Given the description of an element on the screen output the (x, y) to click on. 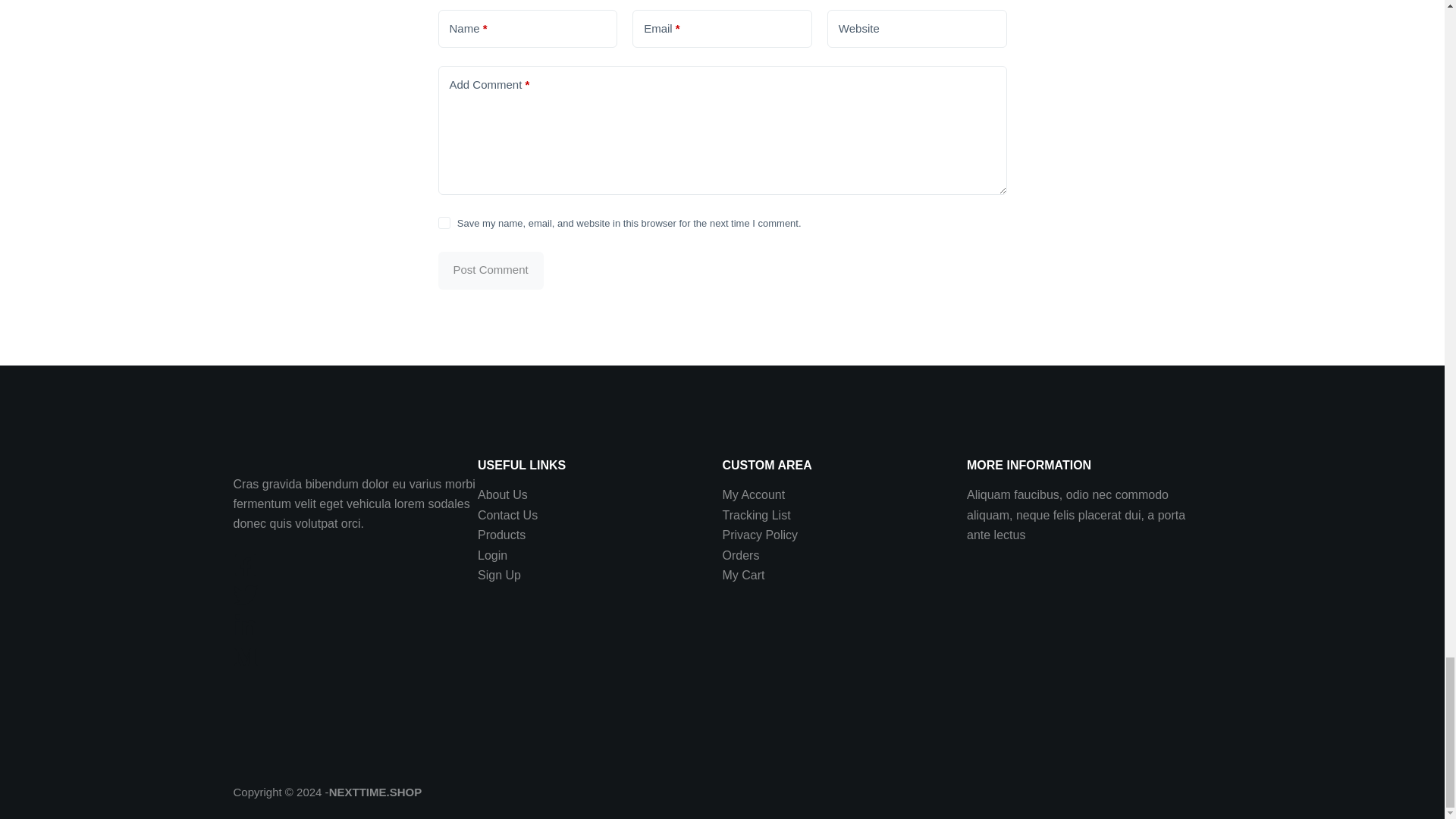
yes (443, 223)
